Given the description of an element on the screen output the (x, y) to click on. 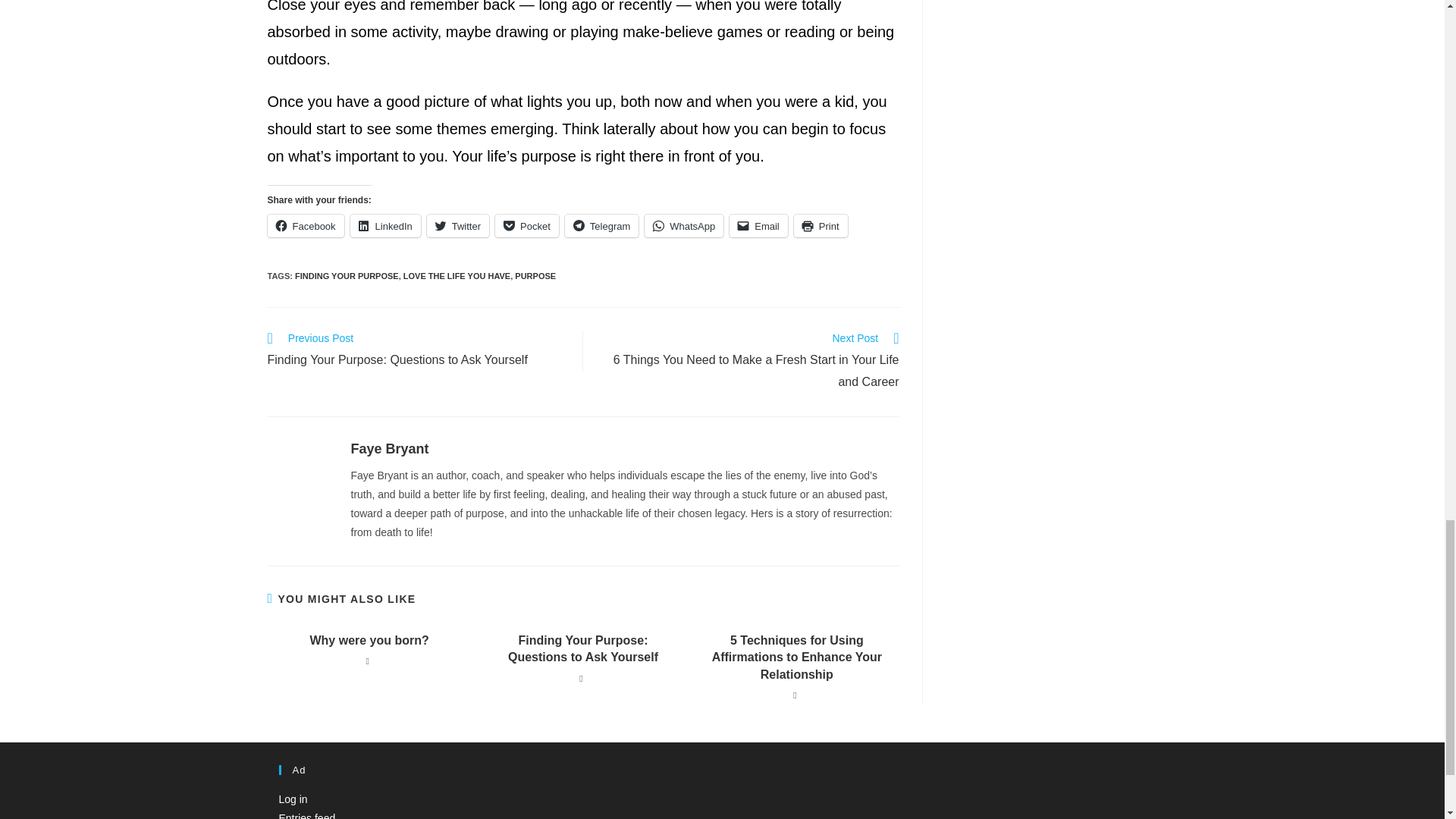
Click to share on Telegram (601, 225)
Click to print (820, 225)
Click to share on Twitter (457, 225)
Visit author page (389, 448)
Click to share on Pocket (527, 225)
Click to share on WhatsApp (684, 225)
Click to share on LinkedIn (385, 225)
Facebook (304, 225)
Click to share on Facebook (304, 225)
Click to email a link to a friend (758, 225)
